Given the description of an element on the screen output the (x, y) to click on. 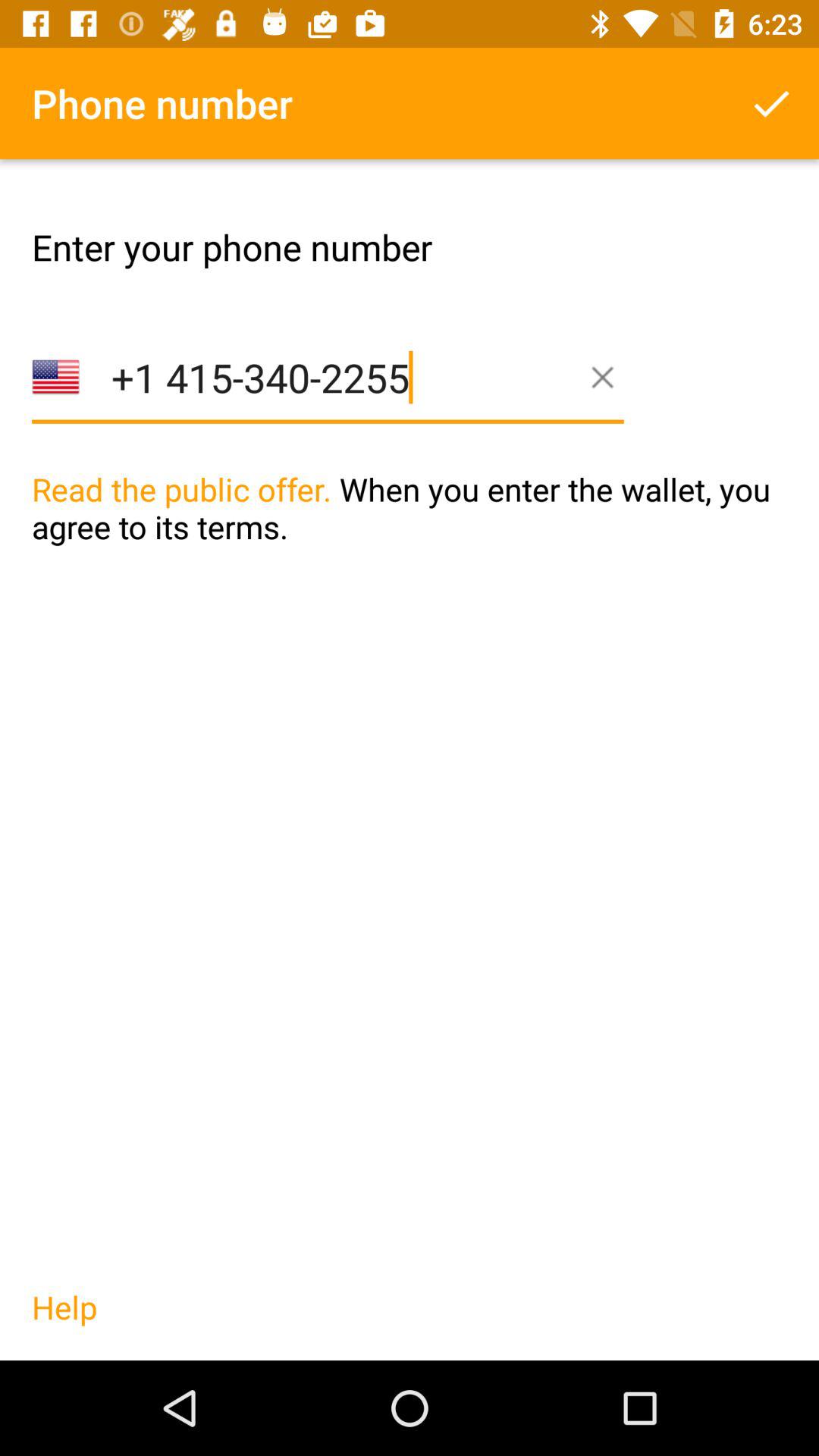
select icon below the enter your phone (327, 400)
